Given the description of an element on the screen output the (x, y) to click on. 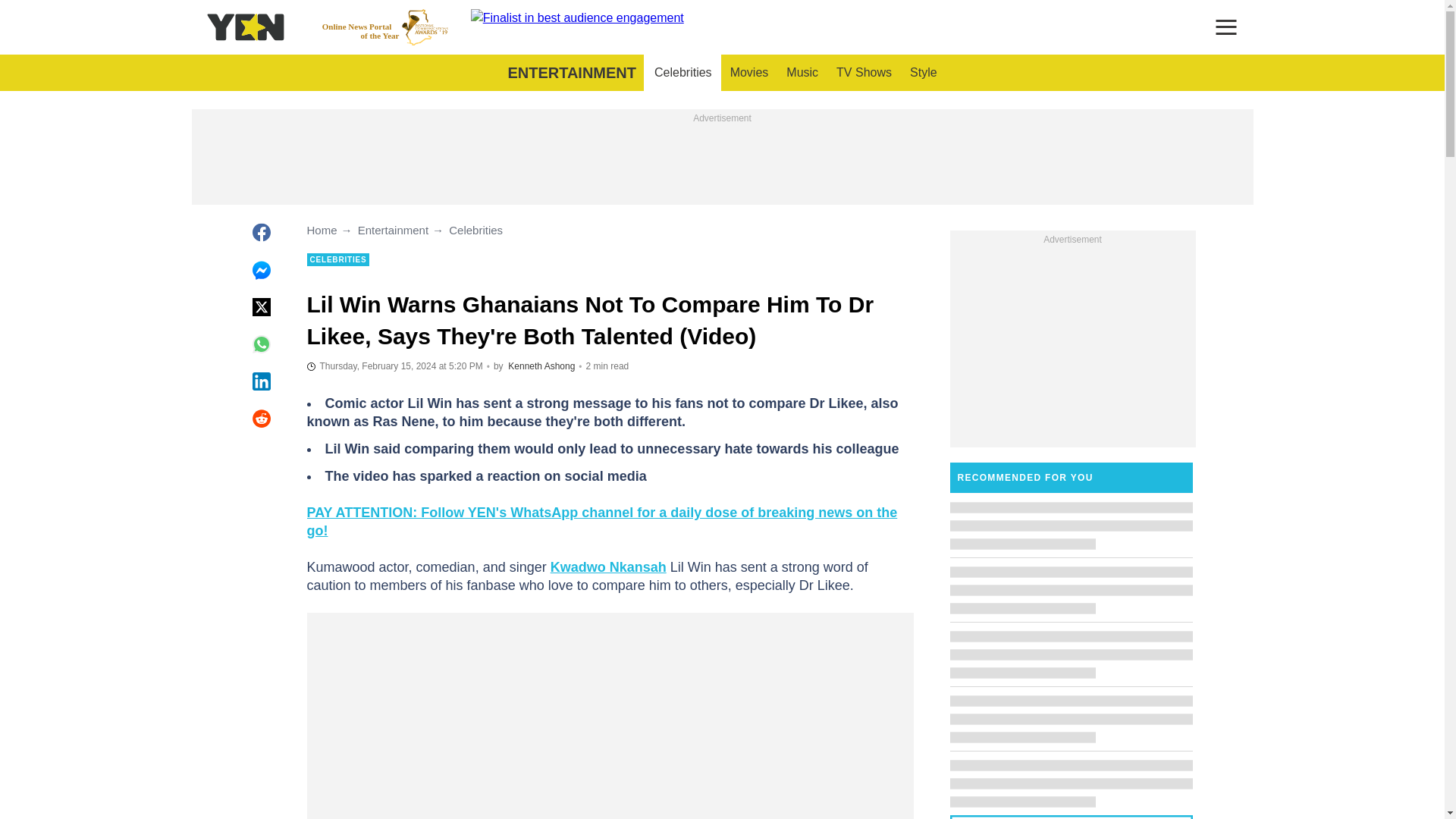
WhatsApp Channel (600, 521)
Style (923, 72)
Author page (541, 366)
ENTERTAINMENT (571, 72)
TV Shows (864, 72)
Movies (748, 72)
Celebrities (682, 72)
Music (802, 72)
2024-02-15T17:20:28Z (393, 366)
